Given the description of an element on the screen output the (x, y) to click on. 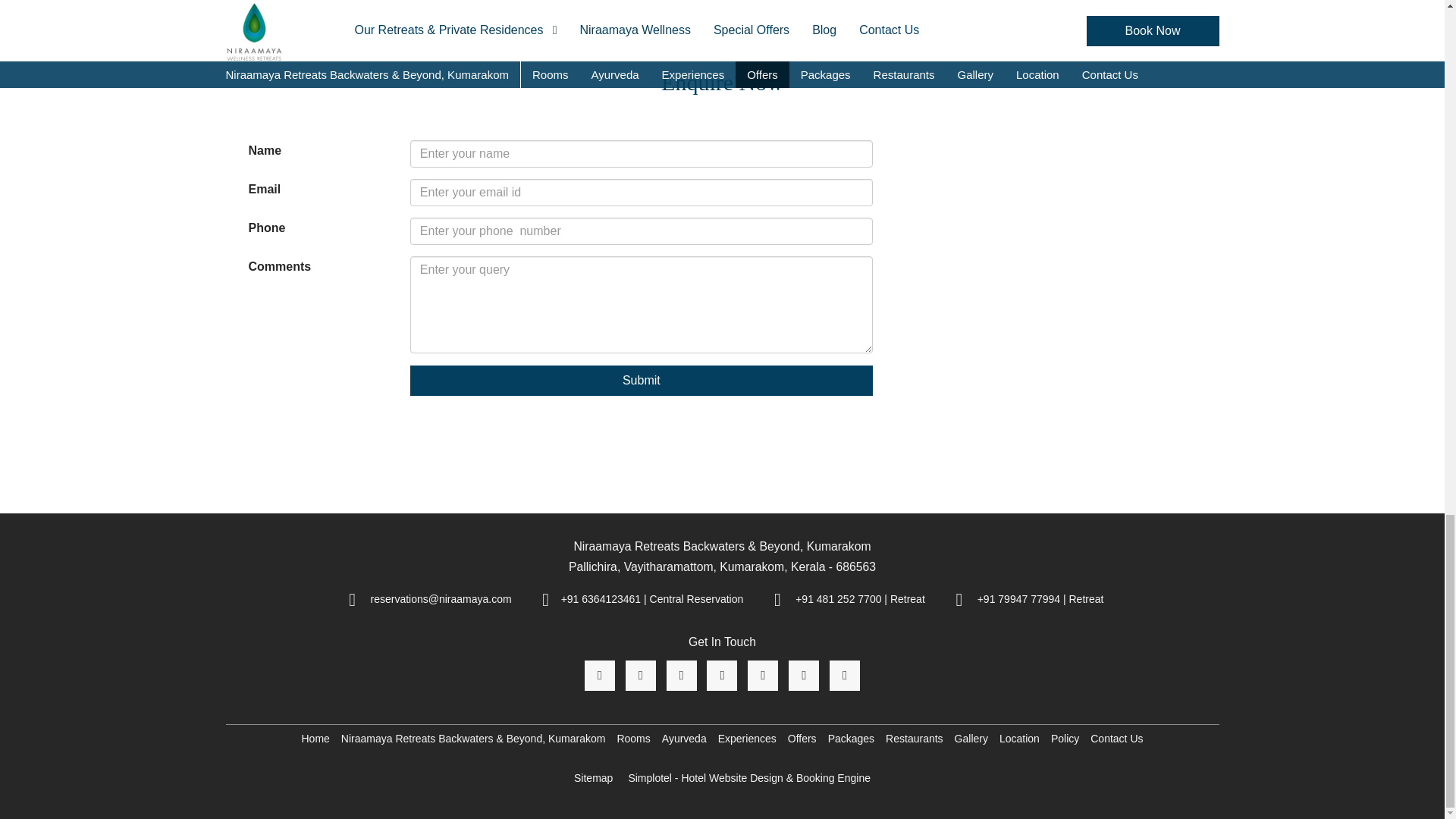
Book Now (721, 12)
Submit (641, 380)
click here for sitemap (592, 777)
